Given the description of an element on the screen output the (x, y) to click on. 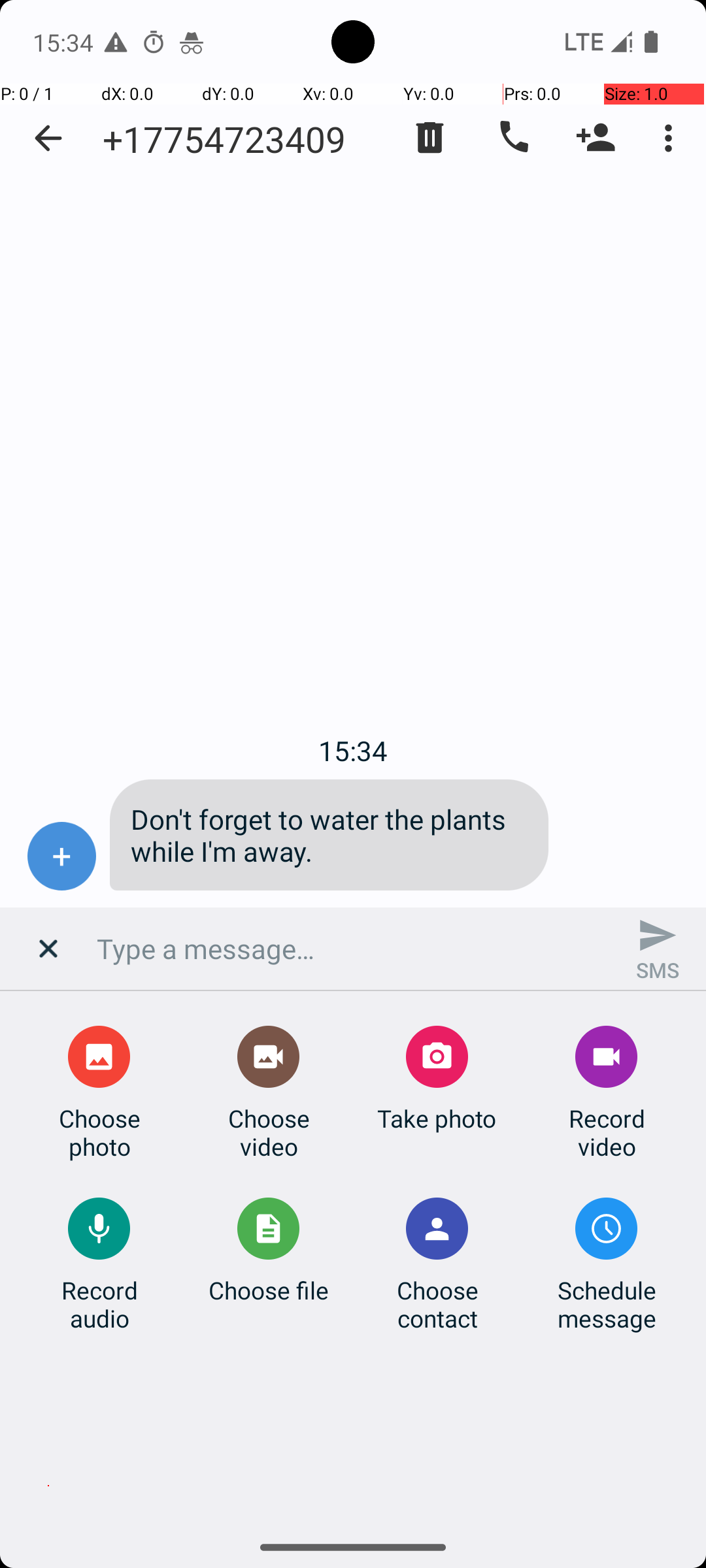
+17754723409 Element type: android.widget.TextView (223, 138)
Dial number Element type: android.widget.Button (512, 137)
Add Person Element type: android.widget.Button (595, 137)
Attachment Element type: android.widget.ImageView (49, 953)
Type a message… Element type: android.widget.EditText (352, 948)
SMS Element type: android.widget.Button (657, 948)
Don't forget to water the plants while I'm away. Element type: android.widget.TextView (328, 834)
Choose photo Element type: android.widget.TextView (98, 1131)
Choose video Element type: android.widget.TextView (268, 1131)
Take photo Element type: android.widget.TextView (436, 1117)
Record video Element type: android.widget.TextView (606, 1131)
Record audio Element type: android.widget.TextView (98, 1303)
Choose file Element type: android.widget.TextView (268, 1289)
Choose contact Element type: android.widget.TextView (436, 1303)
Schedule message Element type: android.widget.TextView (606, 1303)
